Given the description of an element on the screen output the (x, y) to click on. 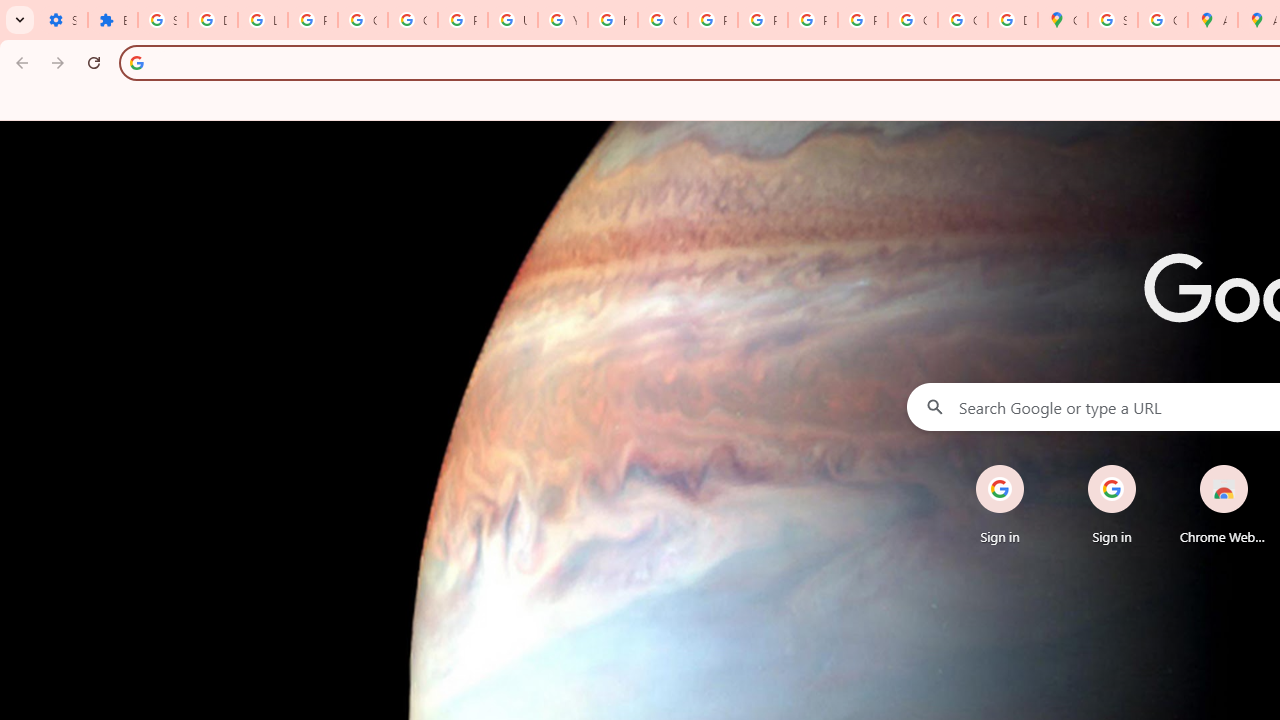
Delete photos & videos - Computer - Google Photos Help (213, 20)
Create your Google Account (1162, 20)
Google Maps (1062, 20)
Remove (1263, 466)
Sign in - Google Accounts (163, 20)
Reload (93, 62)
Sign in - Google Accounts (1112, 20)
